Given the description of an element on the screen output the (x, y) to click on. 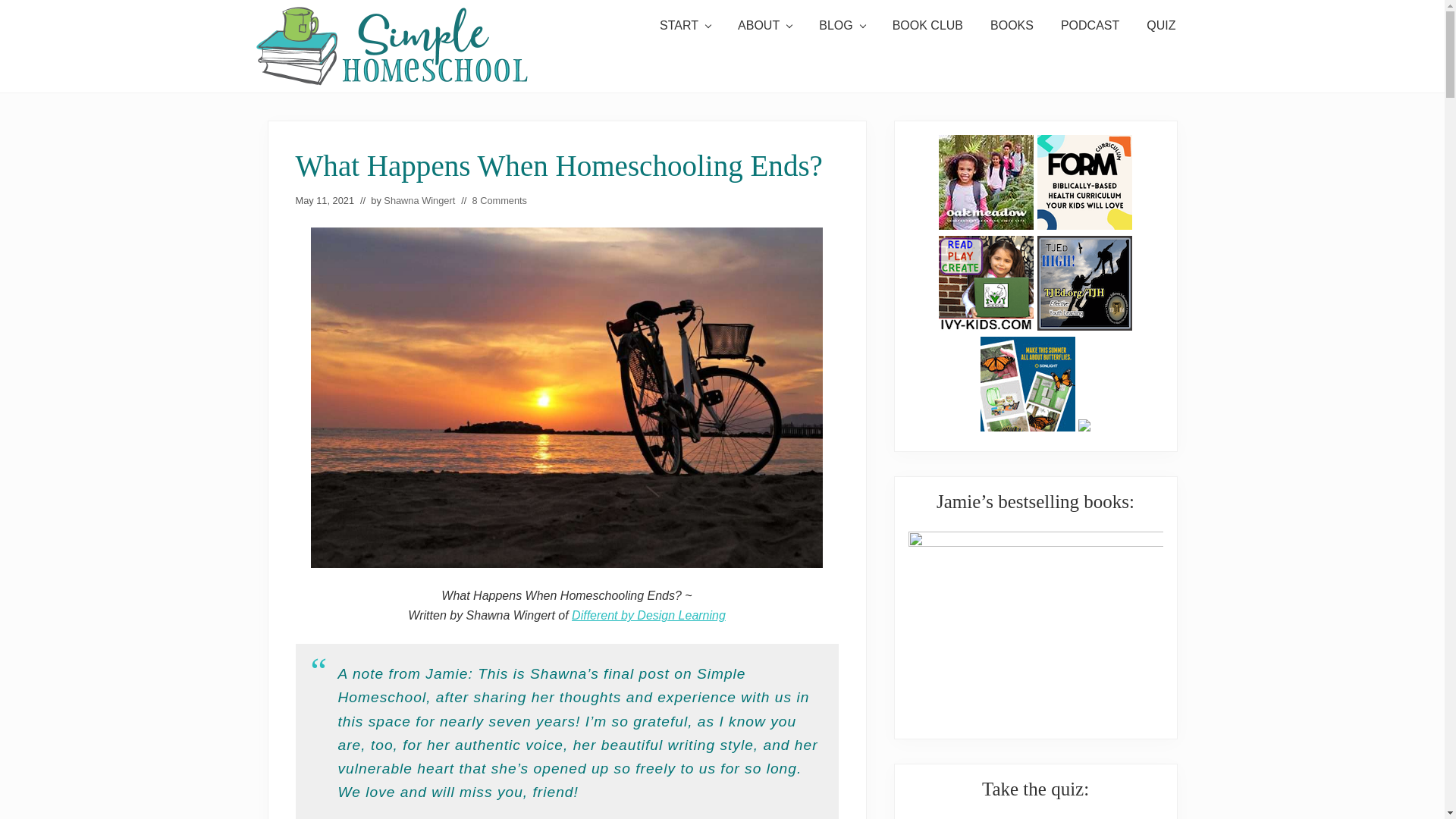
QUIZ (1161, 25)
ABOUT (764, 25)
8 Comments (499, 200)
BLOG (841, 25)
START (684, 25)
BOOK CLUB (927, 25)
BOOKS (1011, 25)
PODCAST (1089, 25)
